Given the description of an element on the screen output the (x, y) to click on. 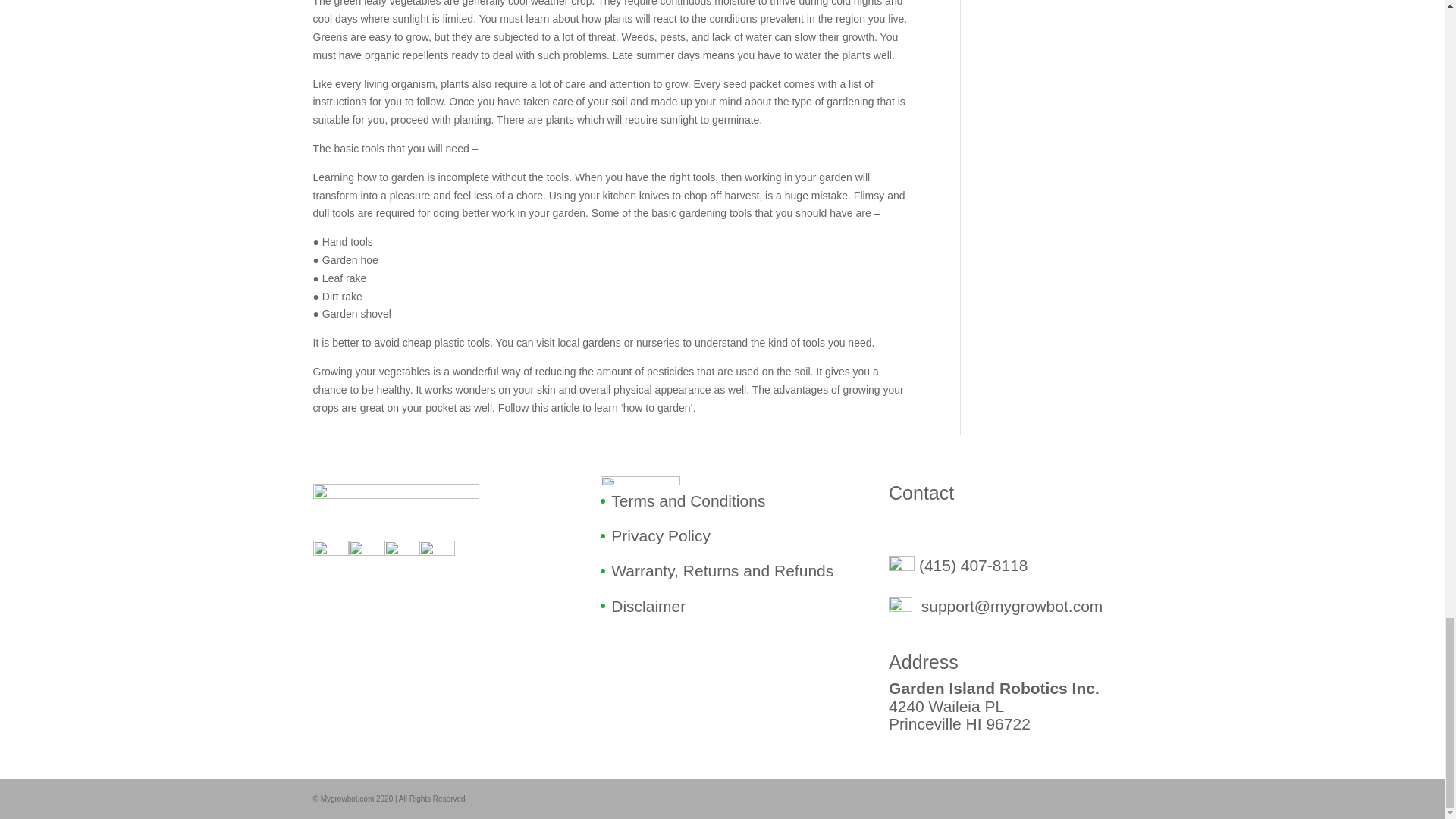
Shift-click to edit this widget. (715, 557)
Shift-click to edit this element. (715, 553)
